Given the description of an element on the screen output the (x, y) to click on. 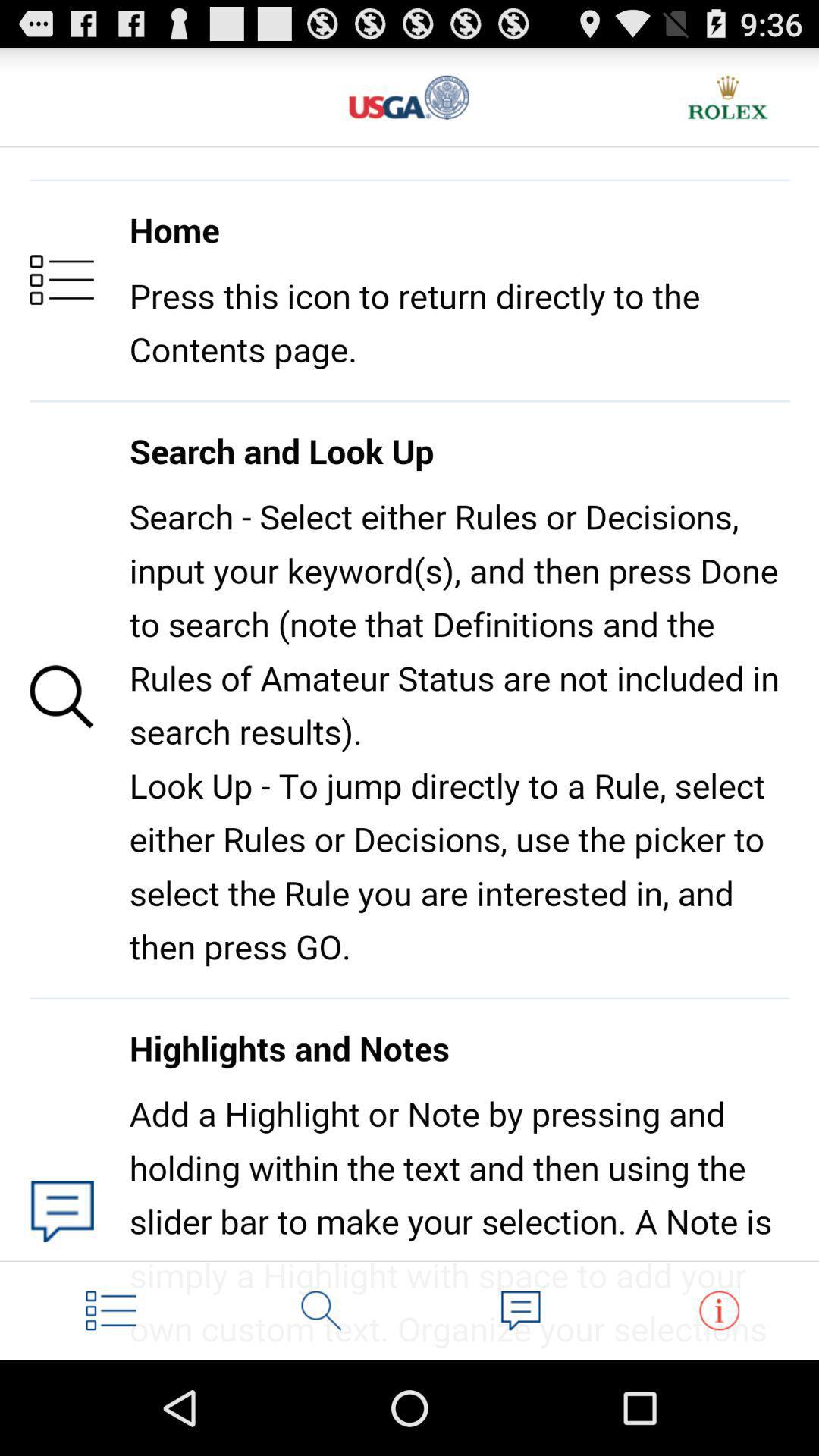
visit rolex site (728, 97)
